Given the description of an element on the screen output the (x, y) to click on. 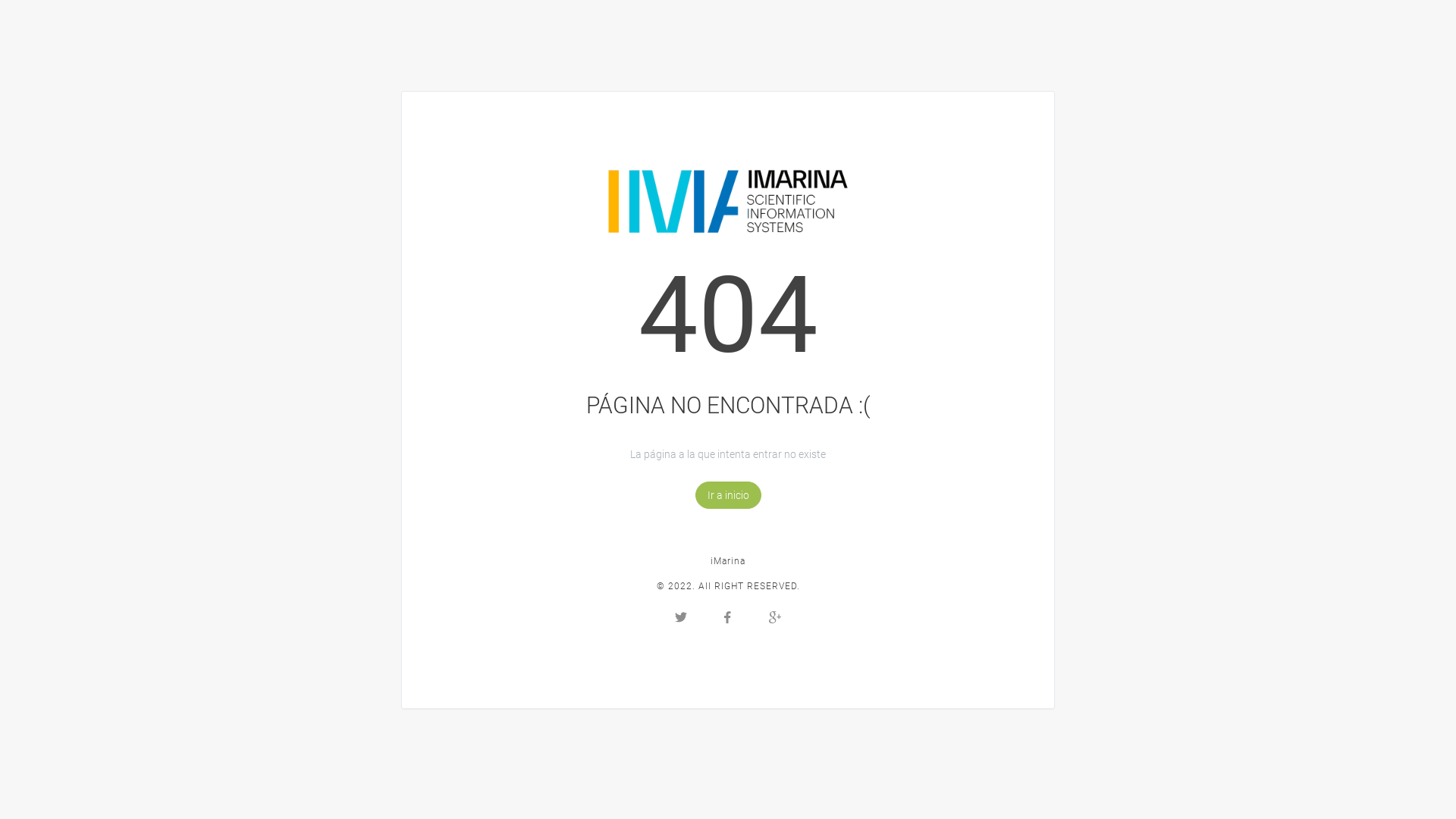
Ir a inicio Element type: text (727, 494)
